Given the description of an element on the screen output the (x, y) to click on. 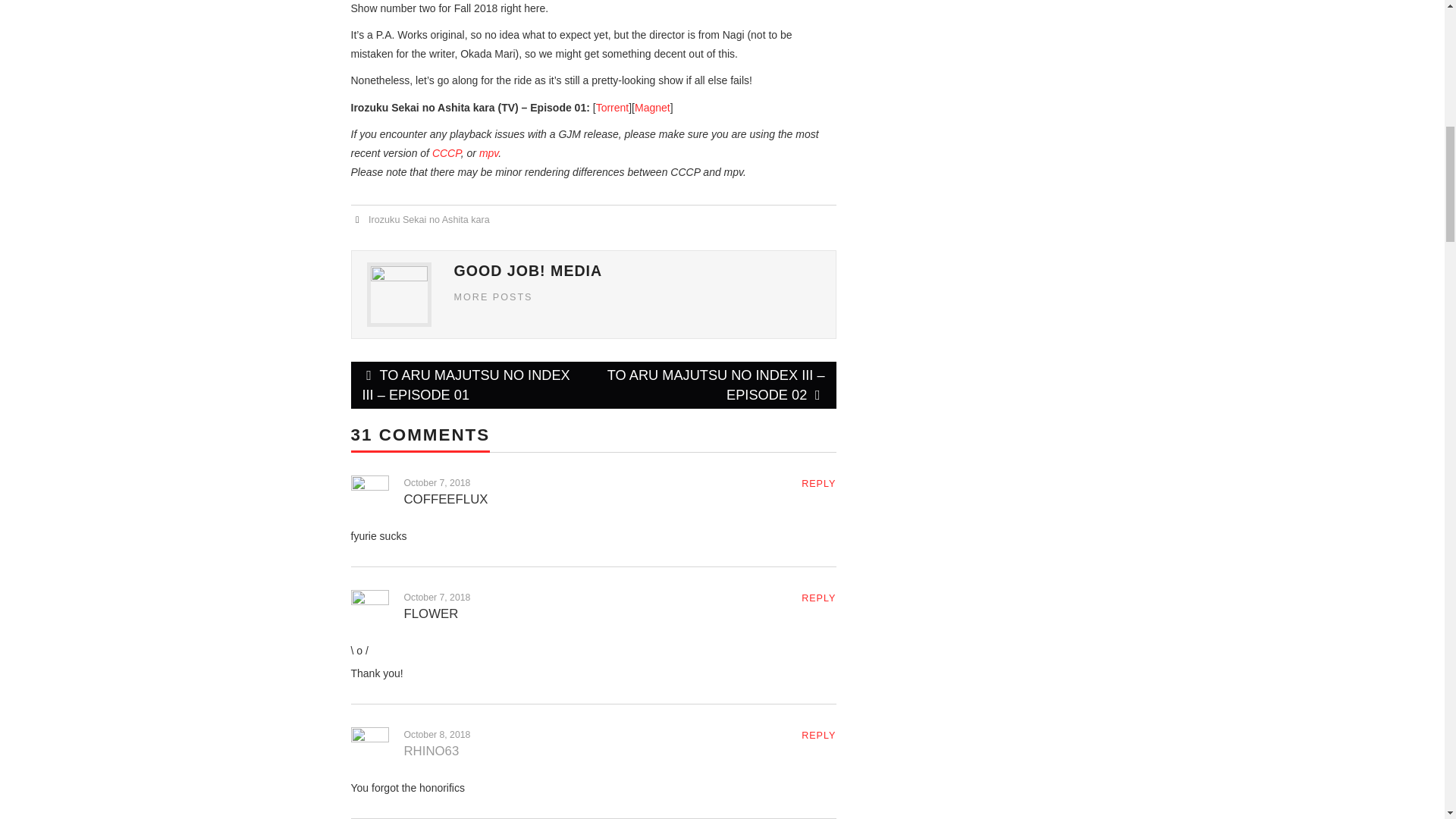
MORE POSTS (492, 296)
REPLY (818, 597)
mpv (488, 152)
COFFEEFLUX (445, 499)
CCCP (446, 152)
Irozuku Sekai no Ashita kara (428, 219)
Torrent (611, 107)
FLOWER (430, 613)
October 7, 2018 (436, 597)
October 7, 2018 (436, 482)
October 8, 2018 (436, 734)
REPLY (818, 483)
REPLY (818, 735)
Magnet (651, 107)
